Given the description of an element on the screen output the (x, y) to click on. 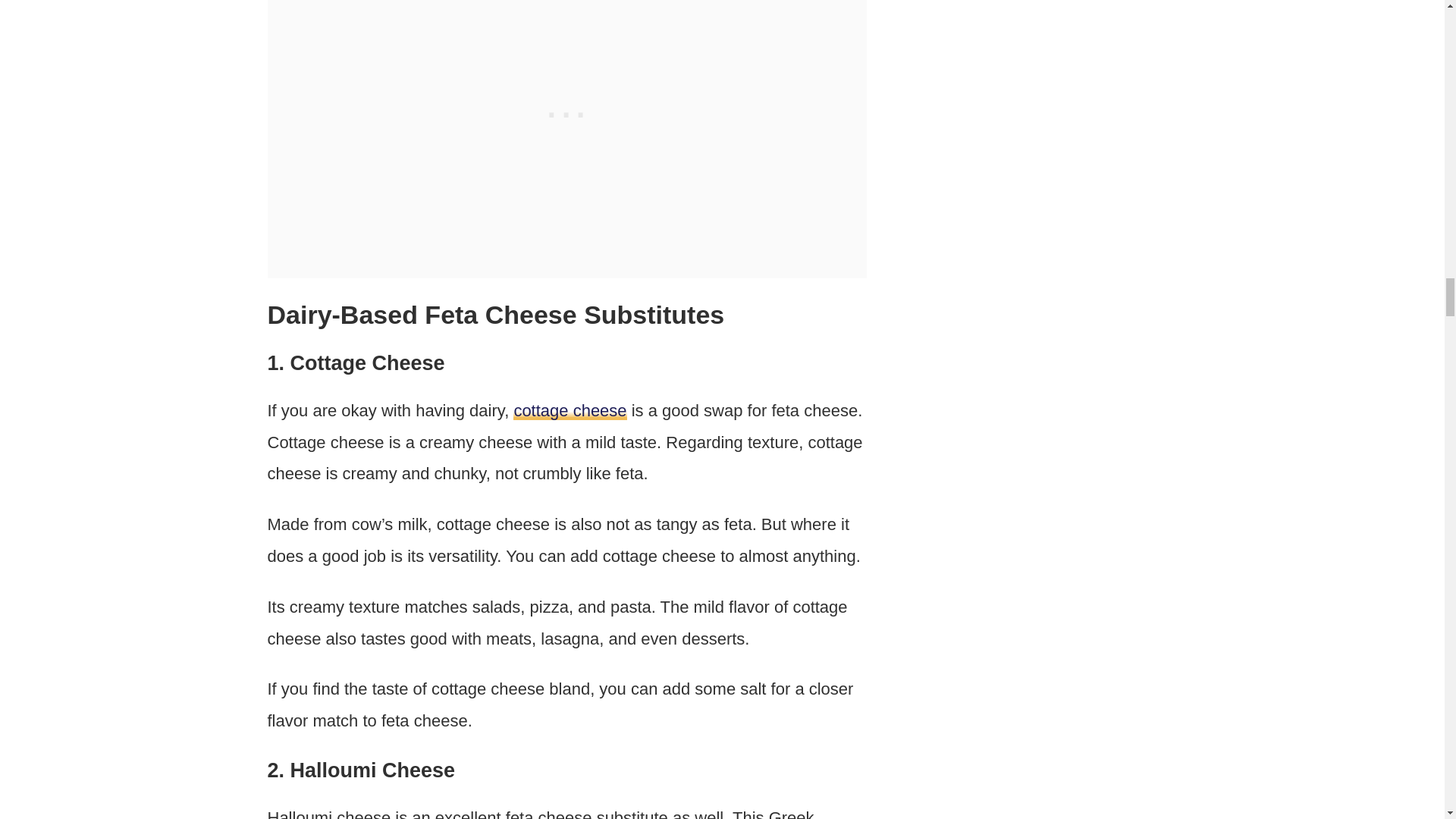
cottage cheese (569, 410)
